Given the description of an element on the screen output the (x, y) to click on. 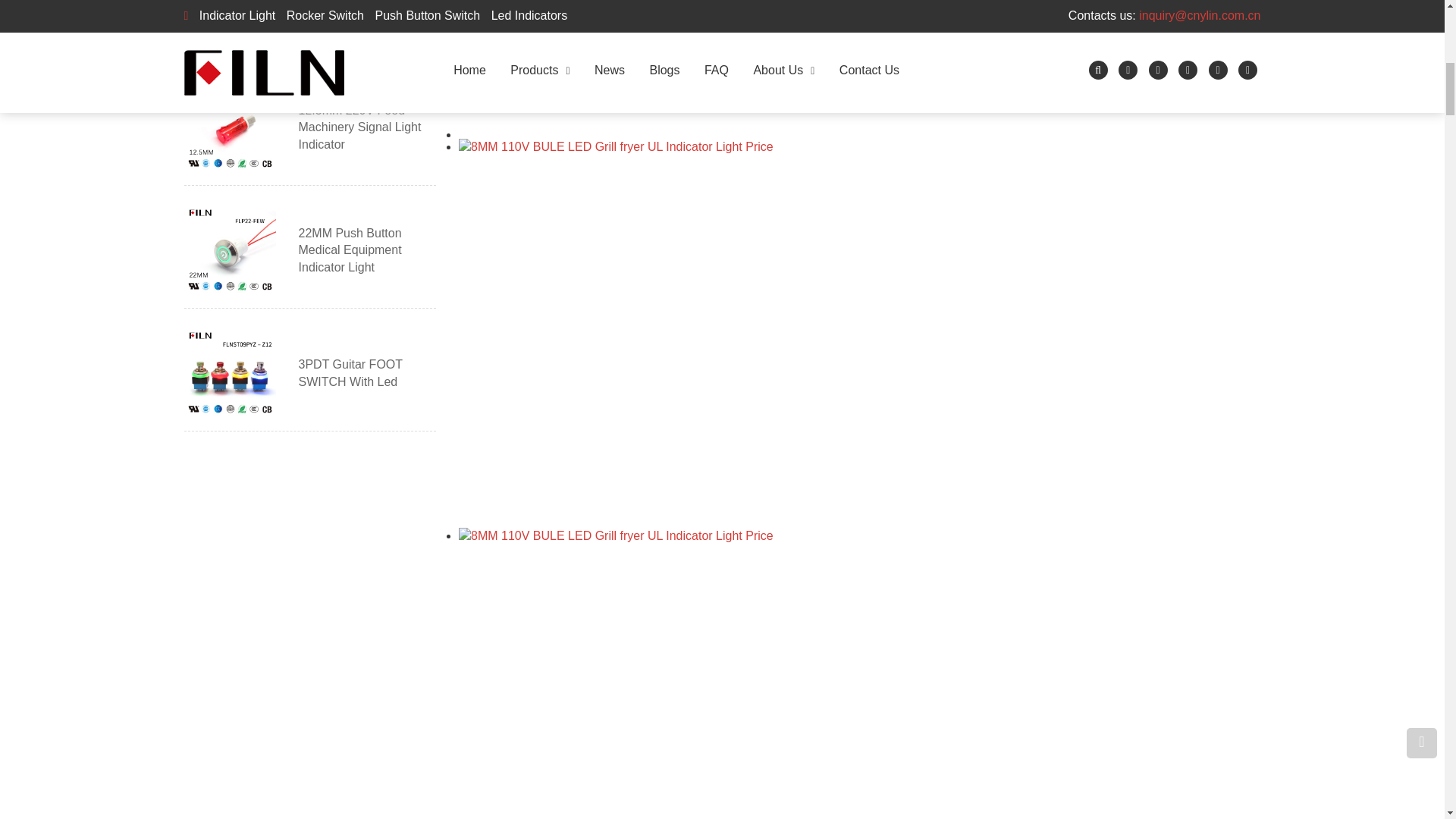
indicator light price (653, 69)
12.5mm 220V Food Machinery Signal Light Indicator (366, 128)
22MM Push Button Medical Equipment Indicator Light (366, 251)
3PDT guitar FOOT SWITCH with led (366, 373)
Micro Rocker Switch 3PIN 6V 20A Round Electrical (366, 15)
indicator light price (653, 673)
